Given the description of an element on the screen output the (x, y) to click on. 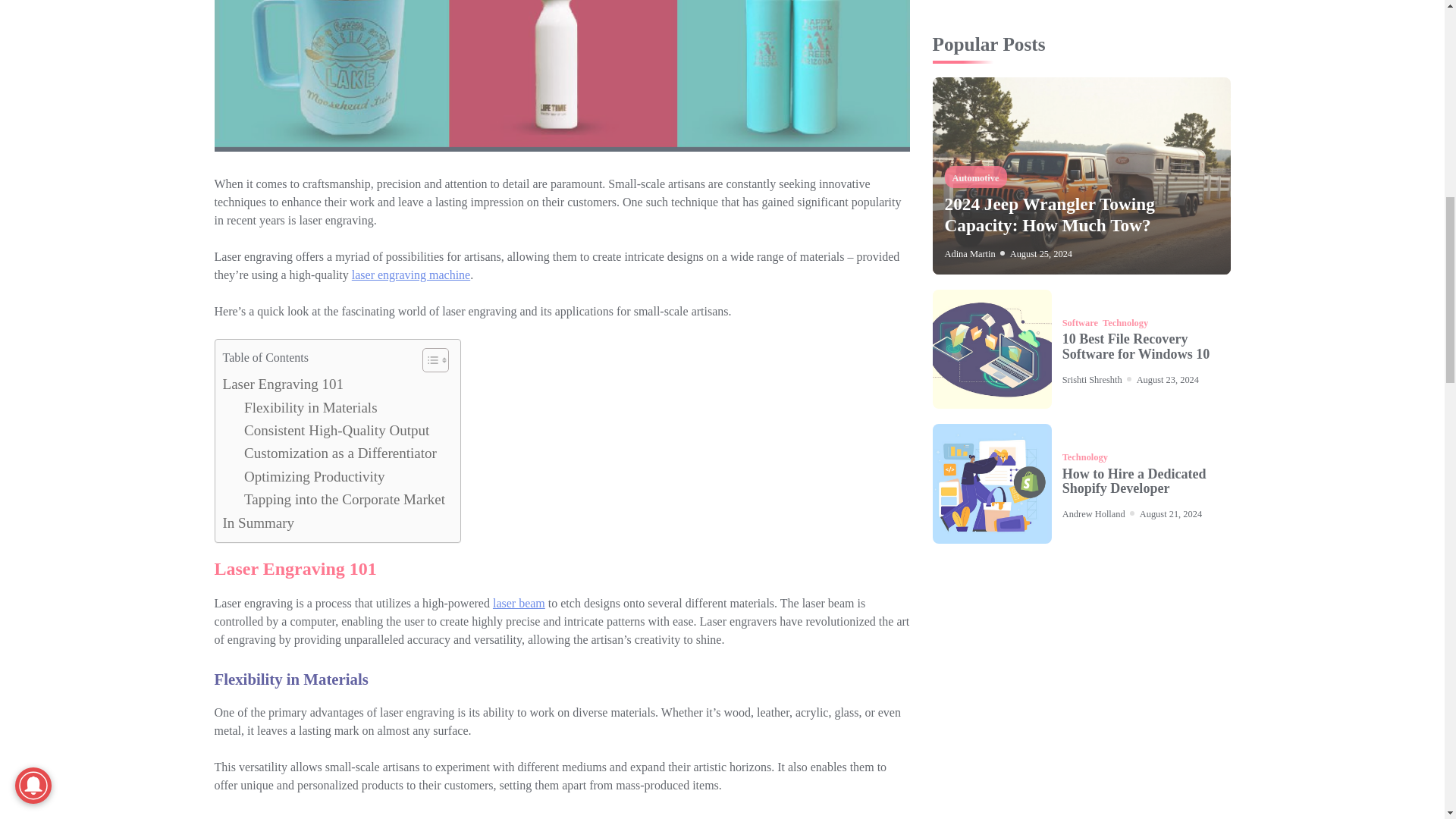
Consistent High-Quality Output (336, 430)
Flexibility in Materials (310, 407)
Tapping into the Corporate Market (344, 499)
Laser Engraving 101 (282, 384)
In Summary (258, 522)
Optimizing Productivity (314, 477)
Customization as a Differentiator (340, 453)
